Given the description of an element on the screen output the (x, y) to click on. 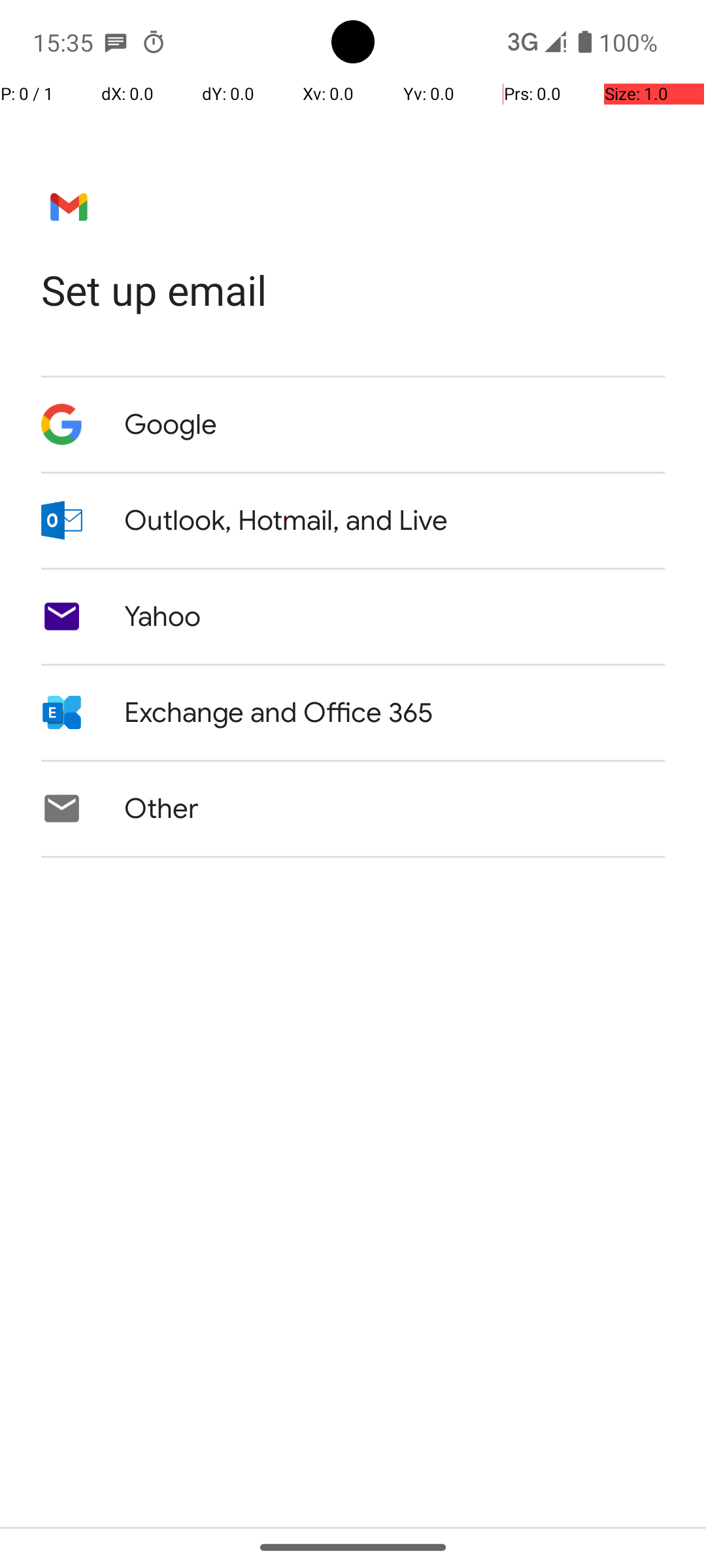
Set up email Element type: android.widget.TextView (352, 289)
Outlook, Hotmail, and Live Element type: android.widget.TextView (286, 520)
Exchange and Office 365 Element type: android.widget.TextView (278, 712)
